Given the description of an element on the screen output the (x, y) to click on. 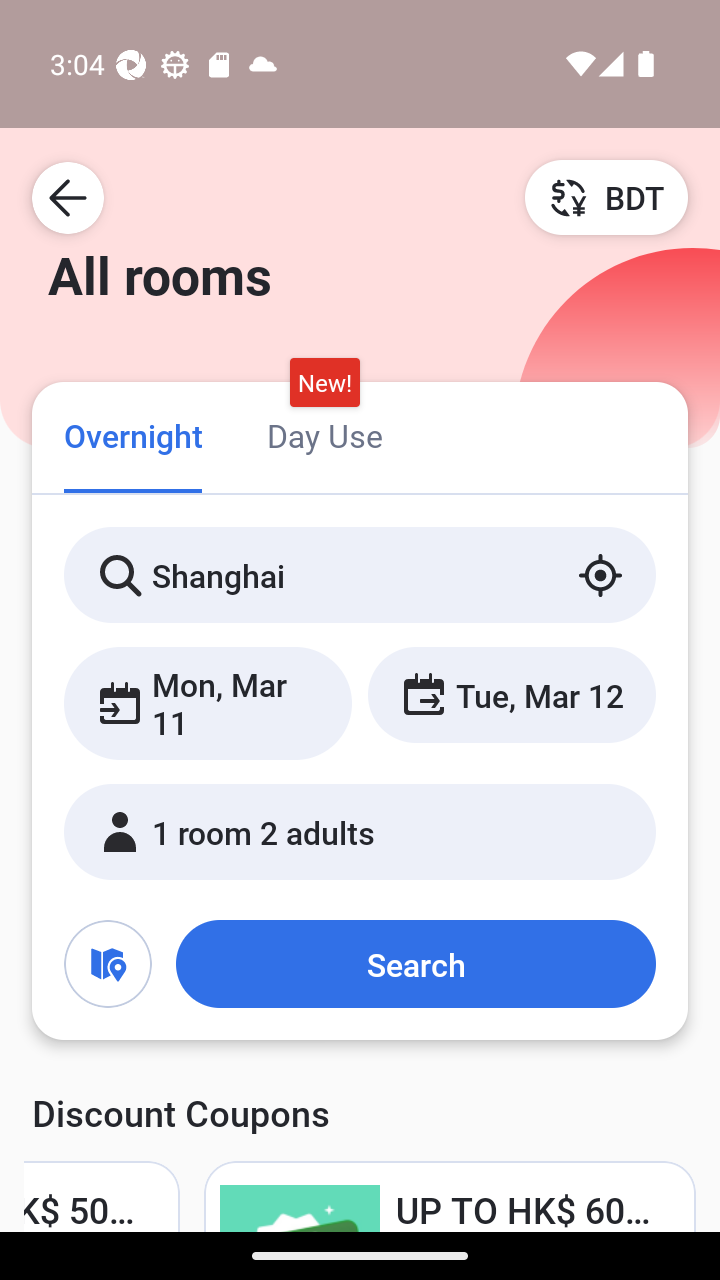
BDT (606, 197)
New! (324, 383)
Day Use (324, 434)
Shanghai (359, 575)
Mon, Mar 11 (208, 703)
Tue, Mar 12 (511, 694)
1 room 2 adults (359, 831)
Search (415, 964)
